Given the description of an element on the screen output the (x, y) to click on. 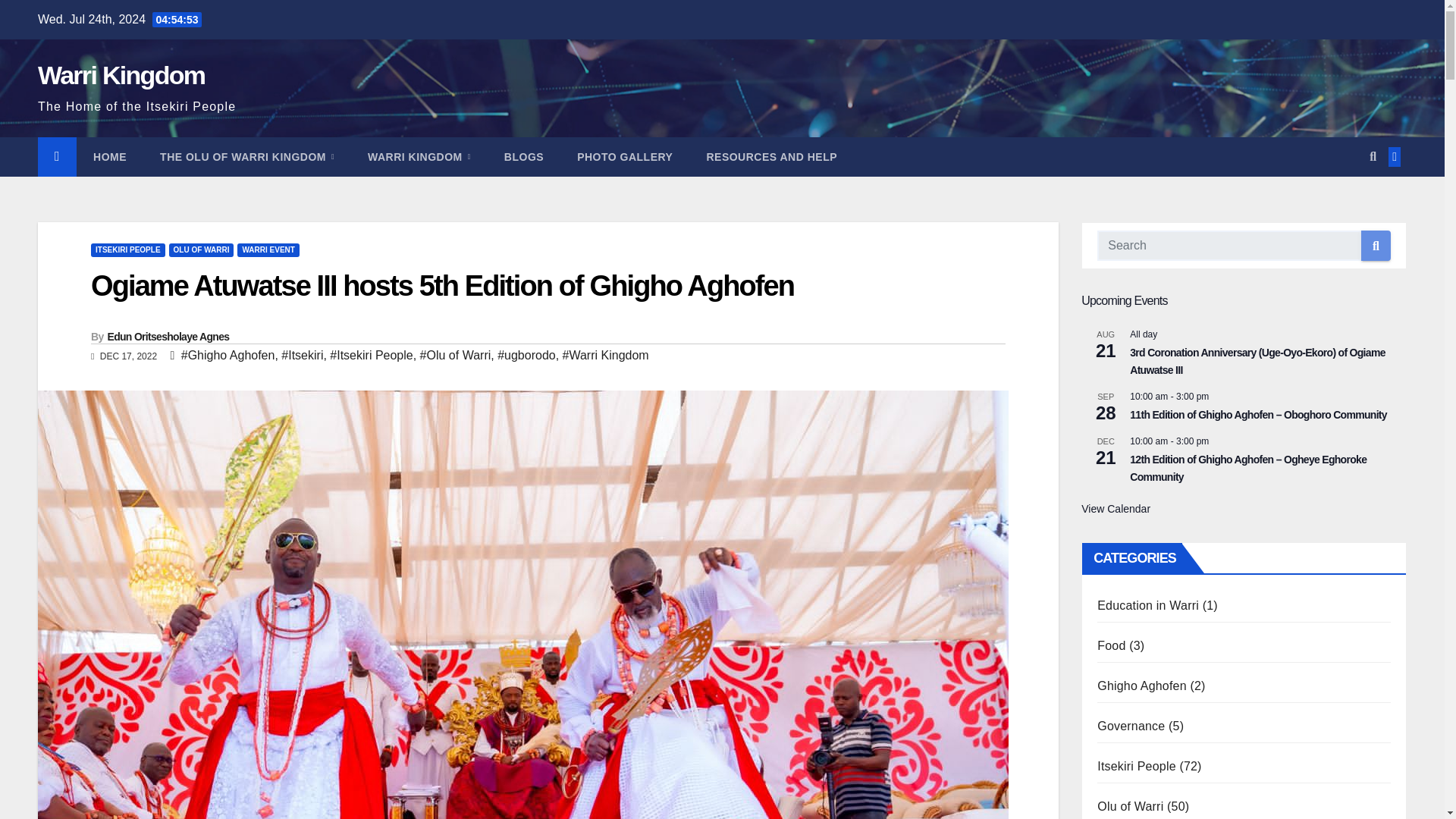
HOME (109, 156)
RESOURCES AND HELP (770, 156)
View more events. (1115, 508)
ITSEKIRI PEOPLE (127, 250)
Edun Oritsesholaye Agnes (168, 336)
OLU OF WARRI (201, 250)
Warri Kingdom (121, 74)
The Olu of Warri Kingdom (246, 156)
Photo Gallery (624, 156)
Resources and Help (770, 156)
Home (109, 156)
WARRI EVENT (267, 250)
WARRI KINGDOM (418, 156)
Ogiame Atuwatse III hosts 5th Edition of Ghigho Aghofen (441, 286)
Warri Kingdom (418, 156)
